Given the description of an element on the screen output the (x, y) to click on. 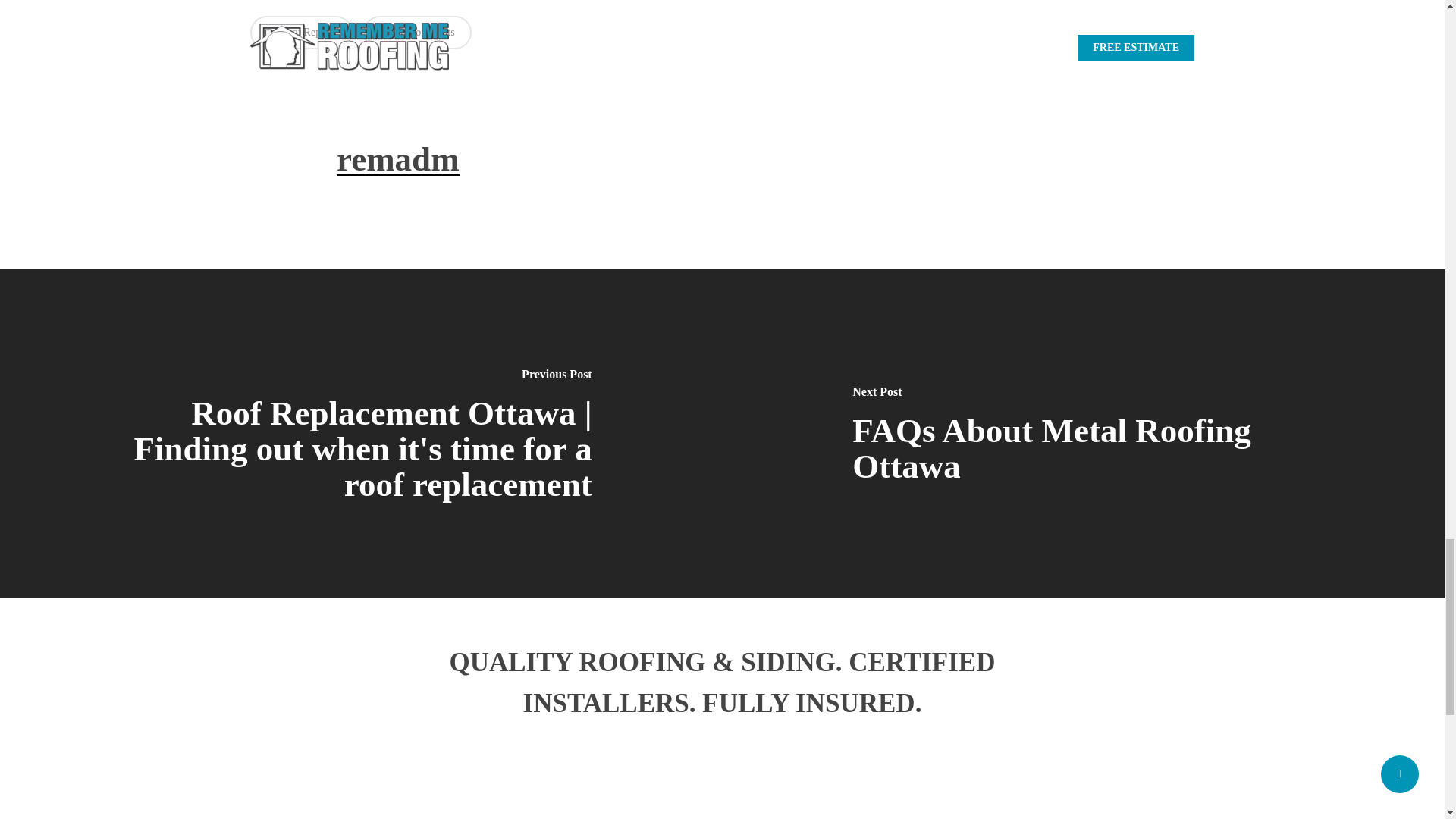
No Comments (416, 32)
Roof Repairs (301, 32)
remadm (398, 159)
